Given the description of an element on the screen output the (x, y) to click on. 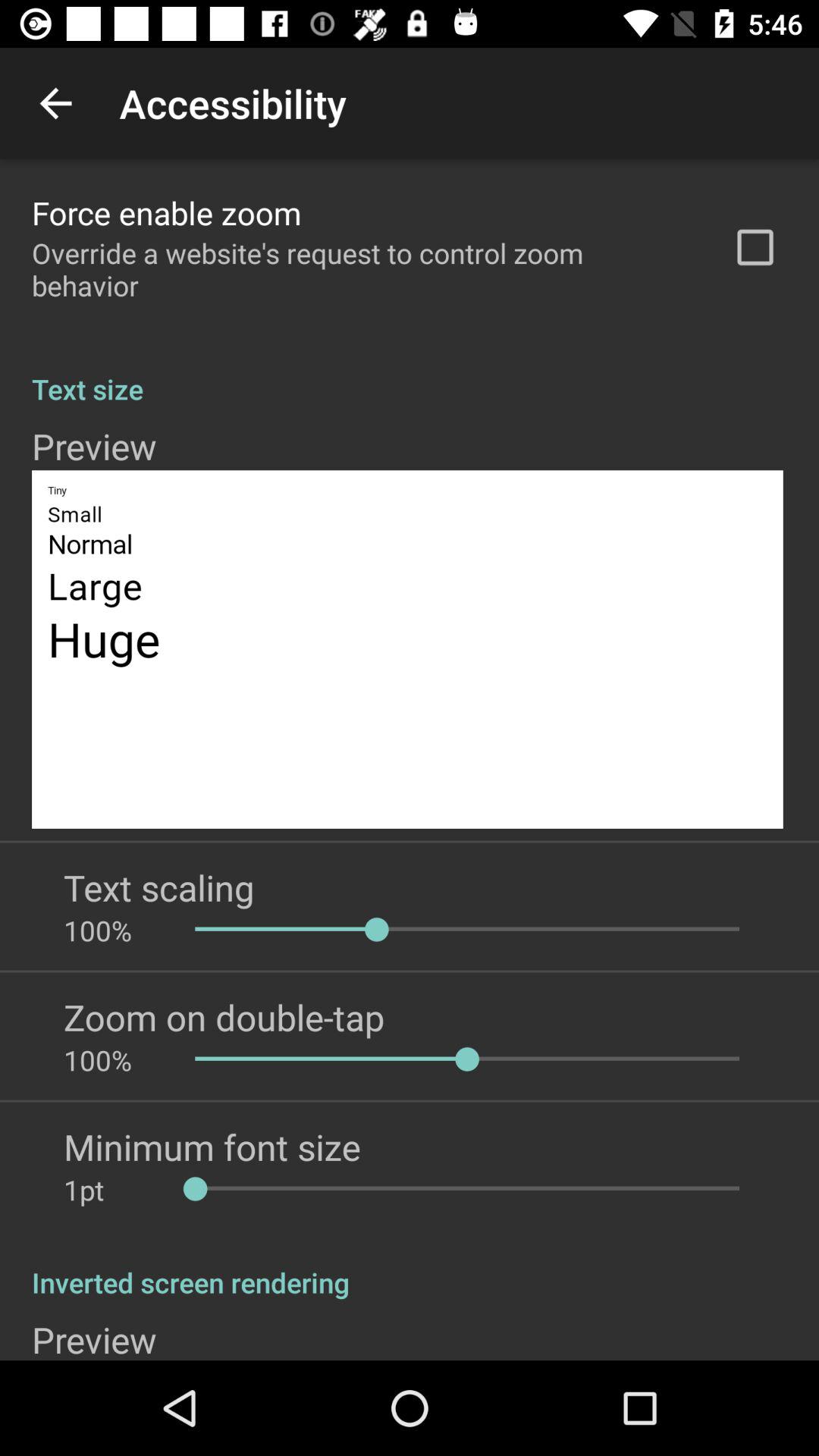
turn on app above text size (755, 247)
